Given the description of an element on the screen output the (x, y) to click on. 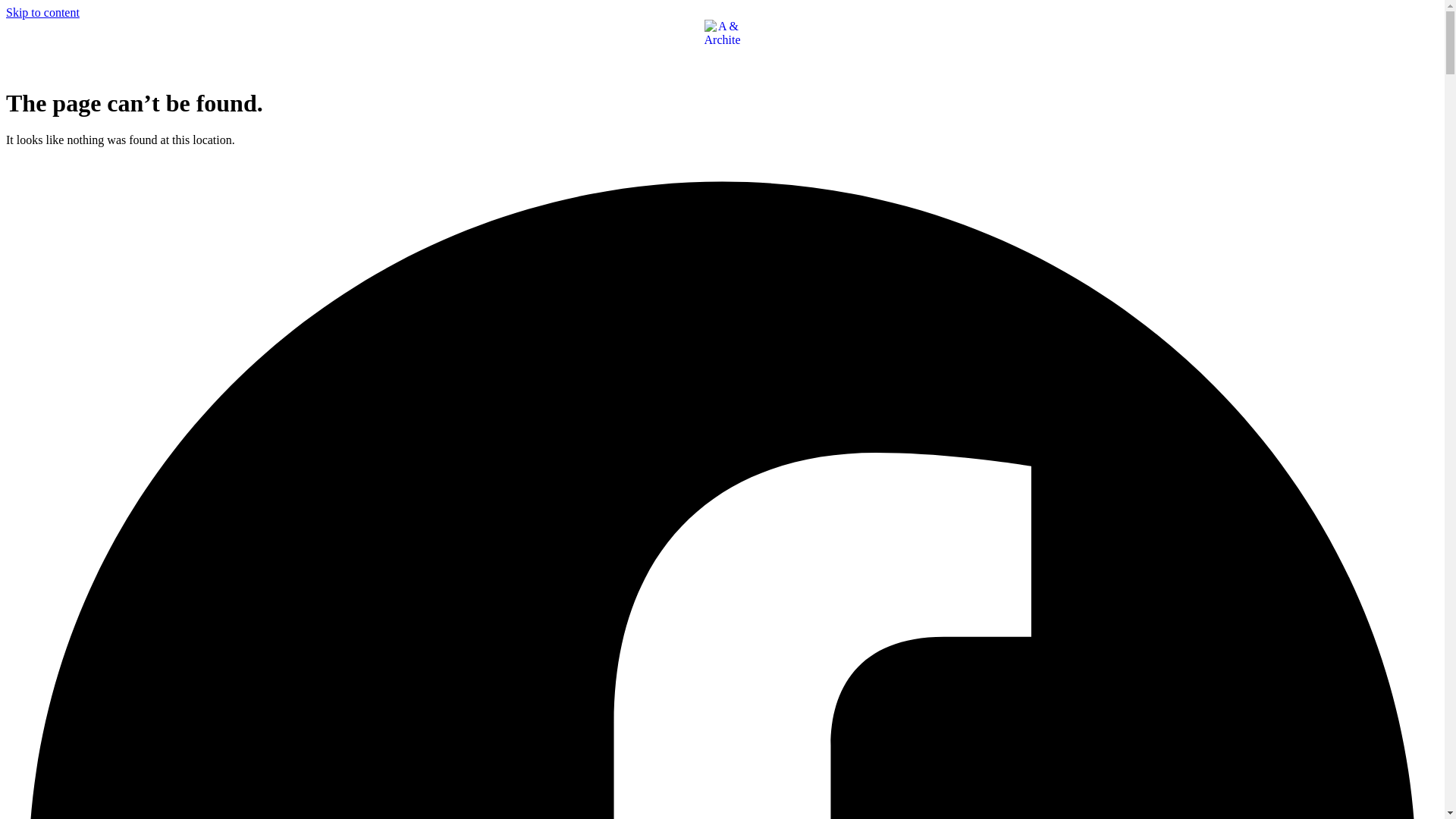
Skip to content Element type: text (42, 12)
